Given the description of an element on the screen output the (x, y) to click on. 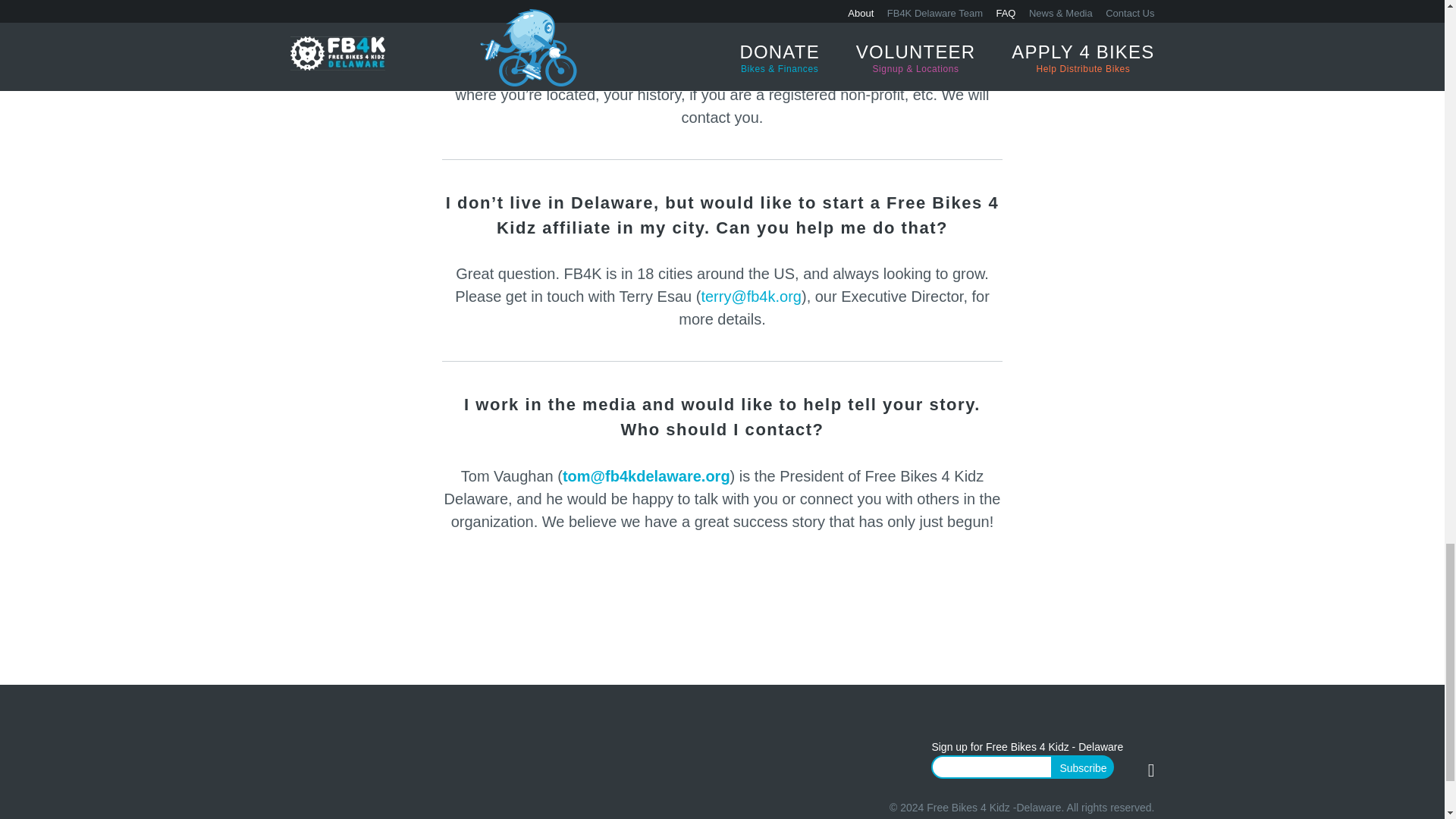
Apply 4 Bikes (559, 71)
Subscribe (1082, 766)
Apply 4 Bikes (559, 71)
Subscribe (1082, 766)
